Given the description of an element on the screen output the (x, y) to click on. 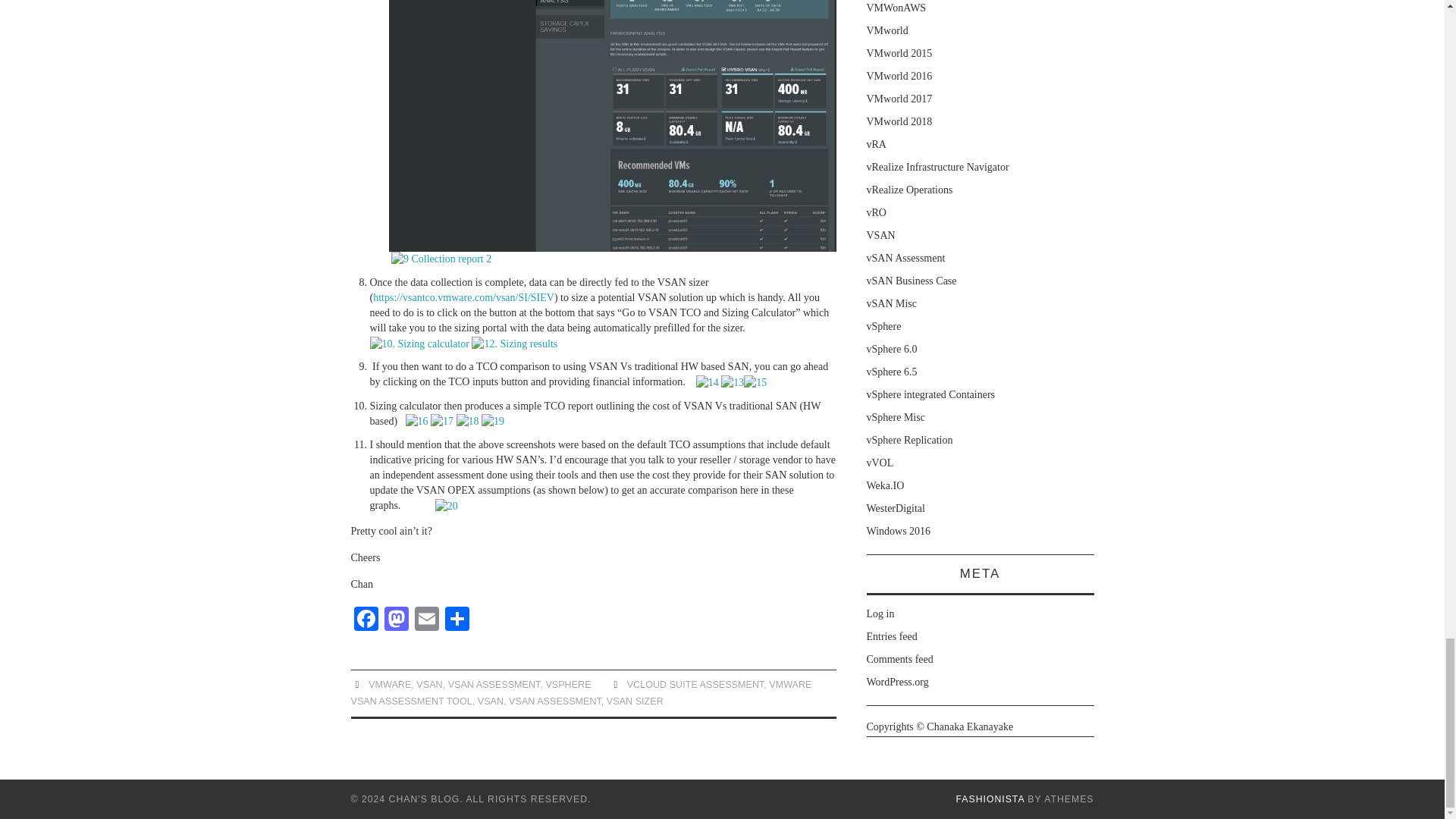
Email (425, 620)
Facebook (365, 620)
Mastodon (395, 620)
